Given the description of an element on the screen output the (x, y) to click on. 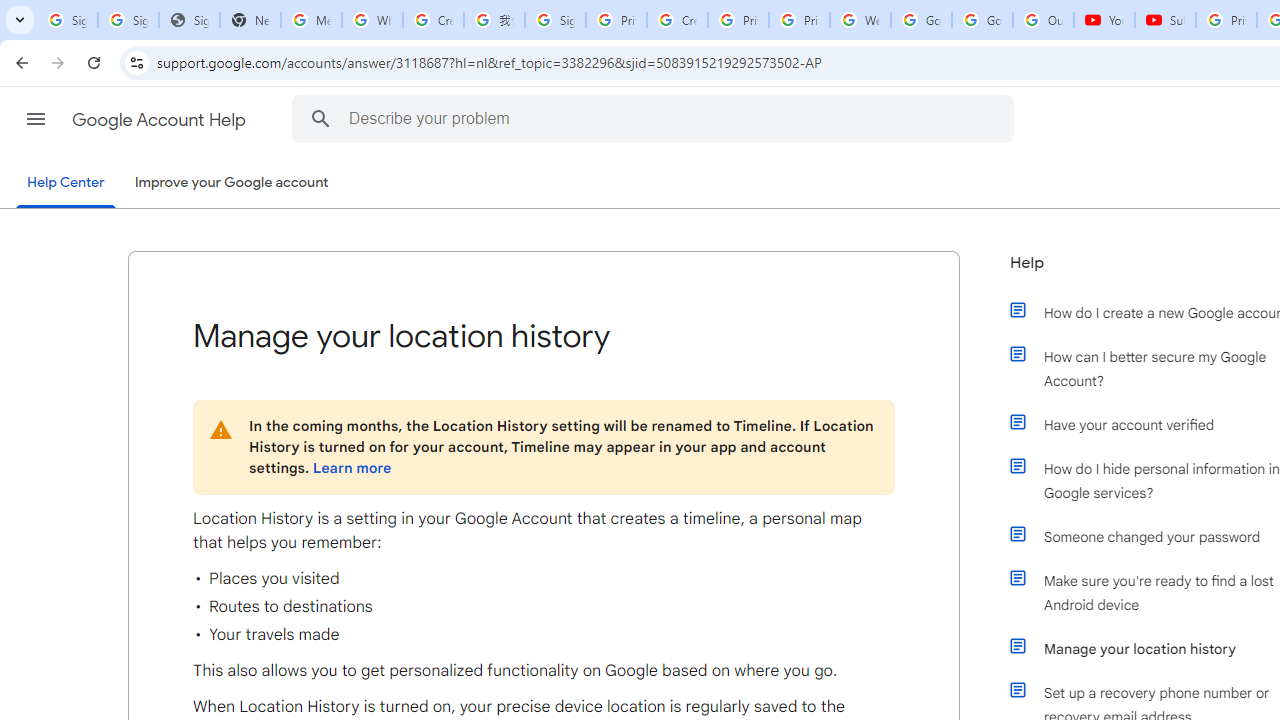
Create your Google Account (676, 20)
YouTube (1104, 20)
Who is my administrator? - Google Account Help (372, 20)
Sign in - Google Accounts (128, 20)
